Given the description of an element on the screen output the (x, y) to click on. 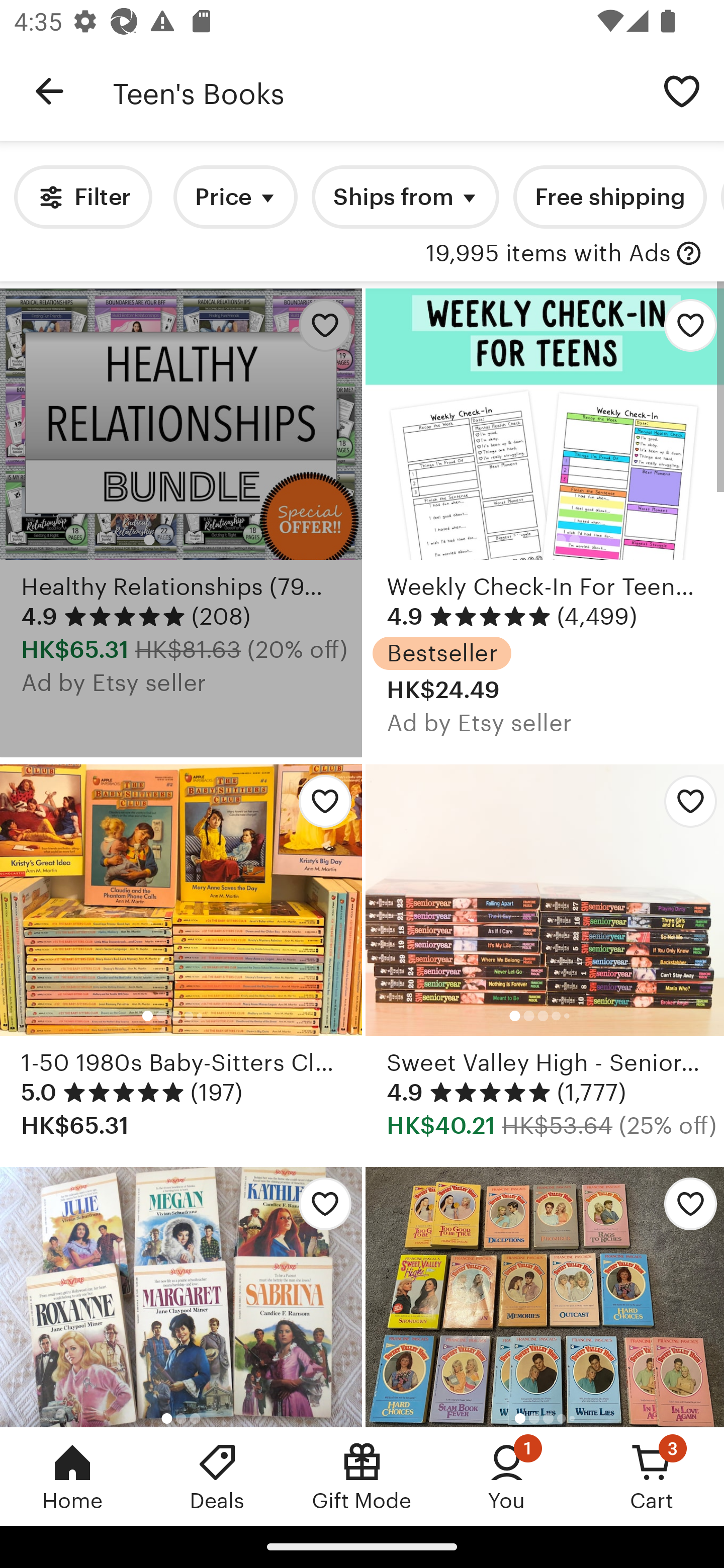
Navigate up (49, 91)
Save search (681, 90)
Teen's Books (375, 91)
Filter (82, 197)
Price (235, 197)
Ships from (405, 197)
Free shipping (609, 197)
19,995 items with Ads (548, 253)
with Ads (688, 253)
Add Sweet Valley High Books - Part 1 to favorites (544, 1296)
Add Sweet Valley High Books - Part 1 to favorites (683, 1208)
Deals (216, 1475)
Gift Mode (361, 1475)
You, 1 new notification You (506, 1475)
Cart, 3 new notifications Cart (651, 1475)
